Given the description of an element on the screen output the (x, y) to click on. 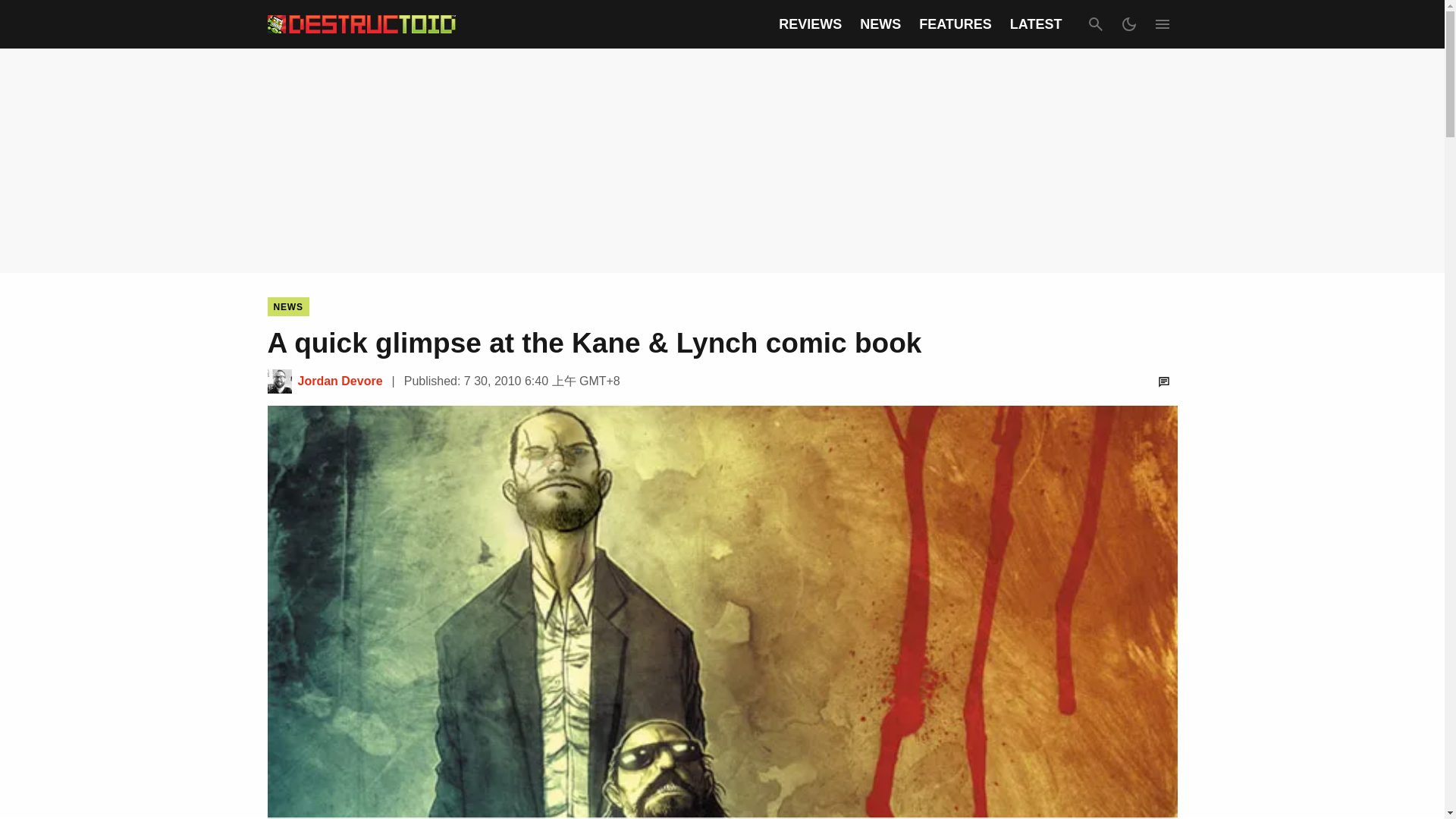
REVIEWS (809, 23)
Search (1094, 24)
LATEST (1036, 23)
Expand Menu (1161, 24)
Dark Mode (1127, 24)
NEWS (287, 306)
NEWS (880, 23)
FEATURES (954, 23)
